Given the description of an element on the screen output the (x, y) to click on. 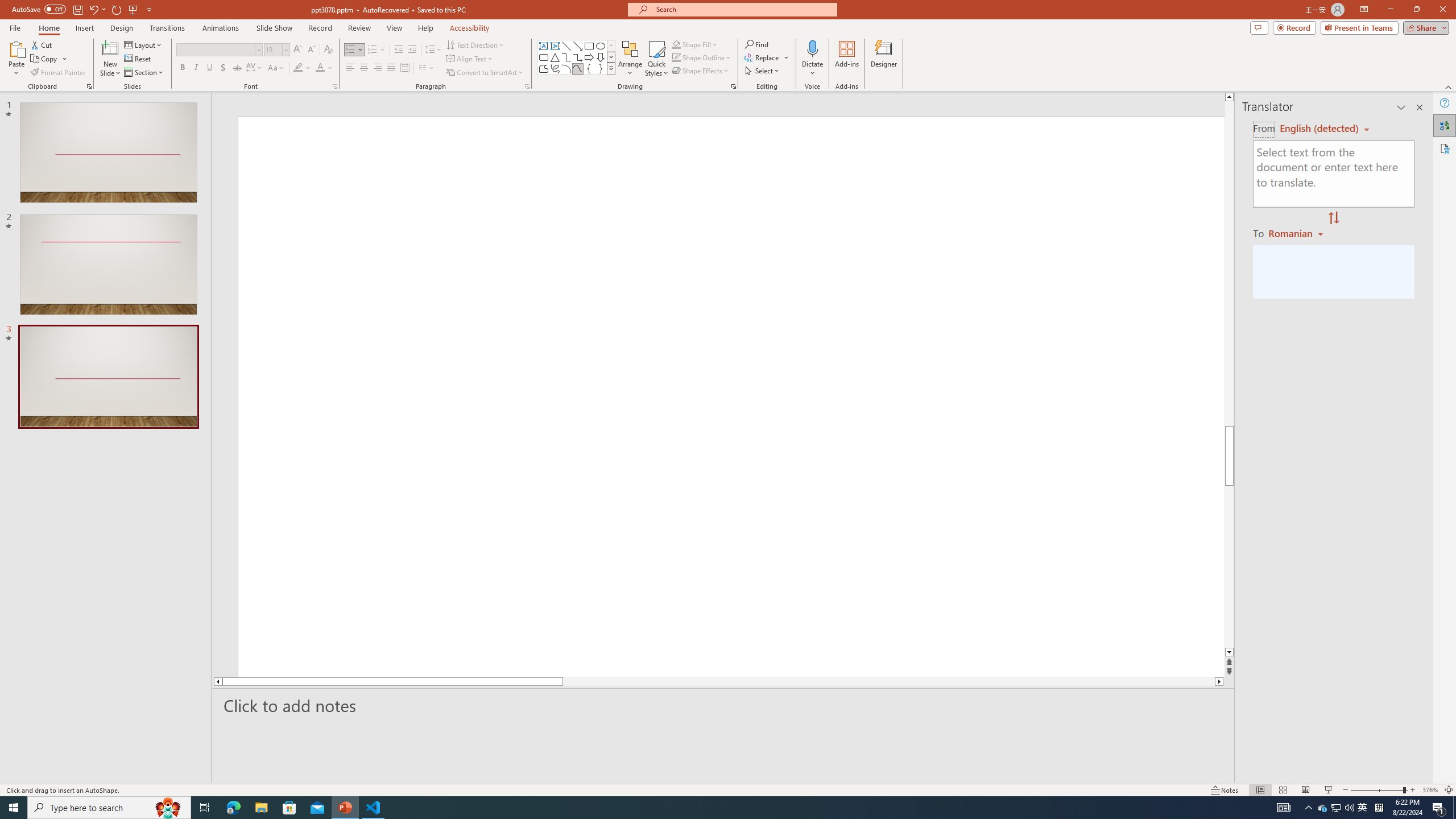
Zoom 376% (1430, 790)
